Given the description of an element on the screen output the (x, y) to click on. 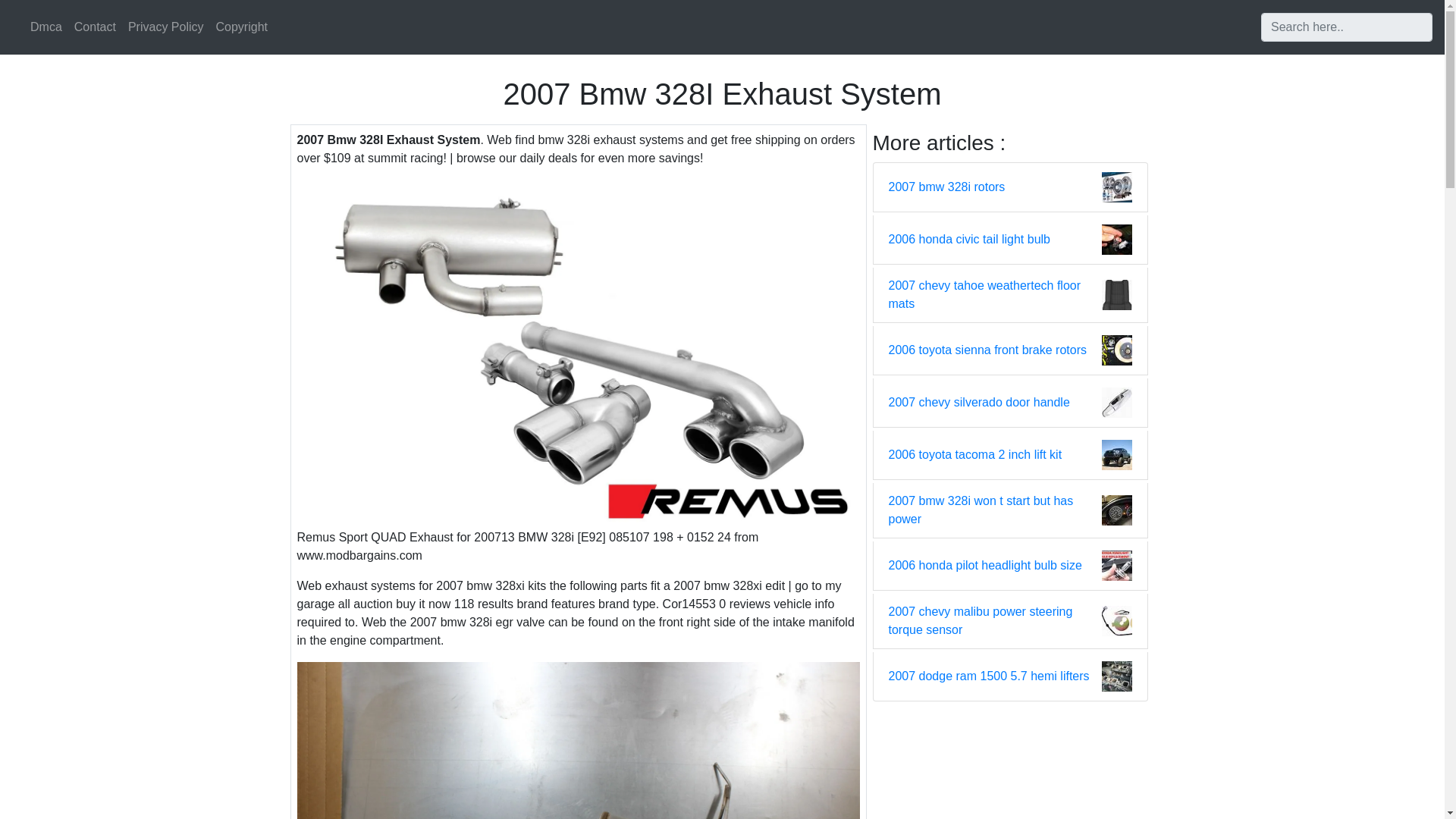
2007 bmw 328i rotors (947, 187)
2006 honda pilot headlight bulb size (984, 565)
Privacy Policy (165, 27)
2007 chevy tahoe weathertech floor mats (995, 294)
2007 chevy malibu power steering torque sensor (995, 620)
2007 chevy silverado door handle (979, 402)
2006 toyota sienna front brake rotors (987, 350)
2006 toyota tacoma 2 inch lift kit (975, 454)
2007 dodge ram 1500 5.7 hemi lifters (988, 676)
Copyright (241, 27)
